Given the description of an element on the screen output the (x, y) to click on. 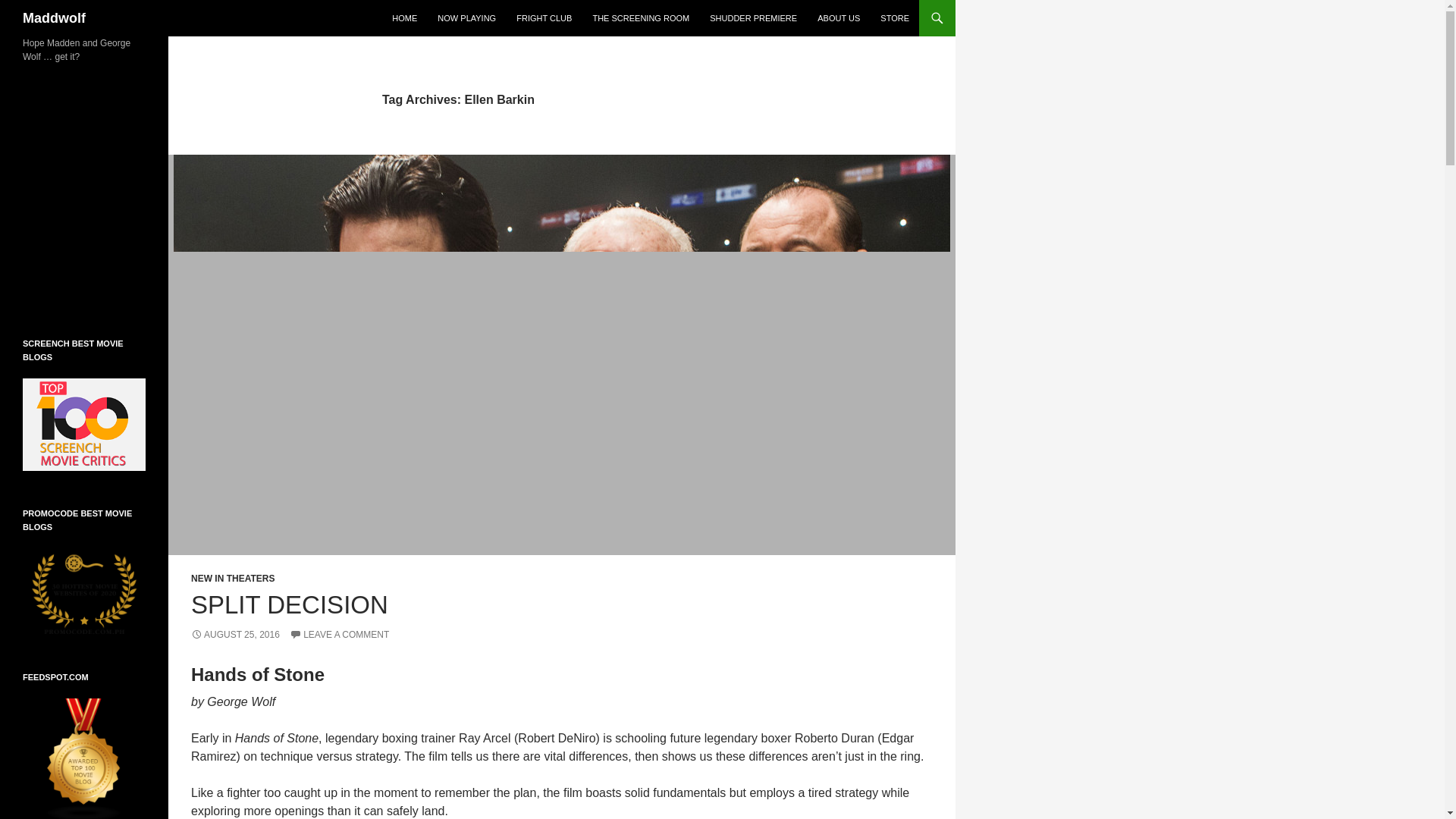
Banners for 30 Hottest Movie Websites of 2020 (84, 590)
AUGUST 25, 2016 (234, 634)
FRIGHT CLUB (543, 18)
Maddwolf (54, 18)
SHUDDER PREMIERE (753, 18)
STORE (894, 18)
THE SCREENING ROOM (640, 18)
Movie blogs (84, 758)
LEAVE A COMMENT (338, 634)
NEW IN THEATERS (232, 578)
